Given the description of an element on the screen output the (x, y) to click on. 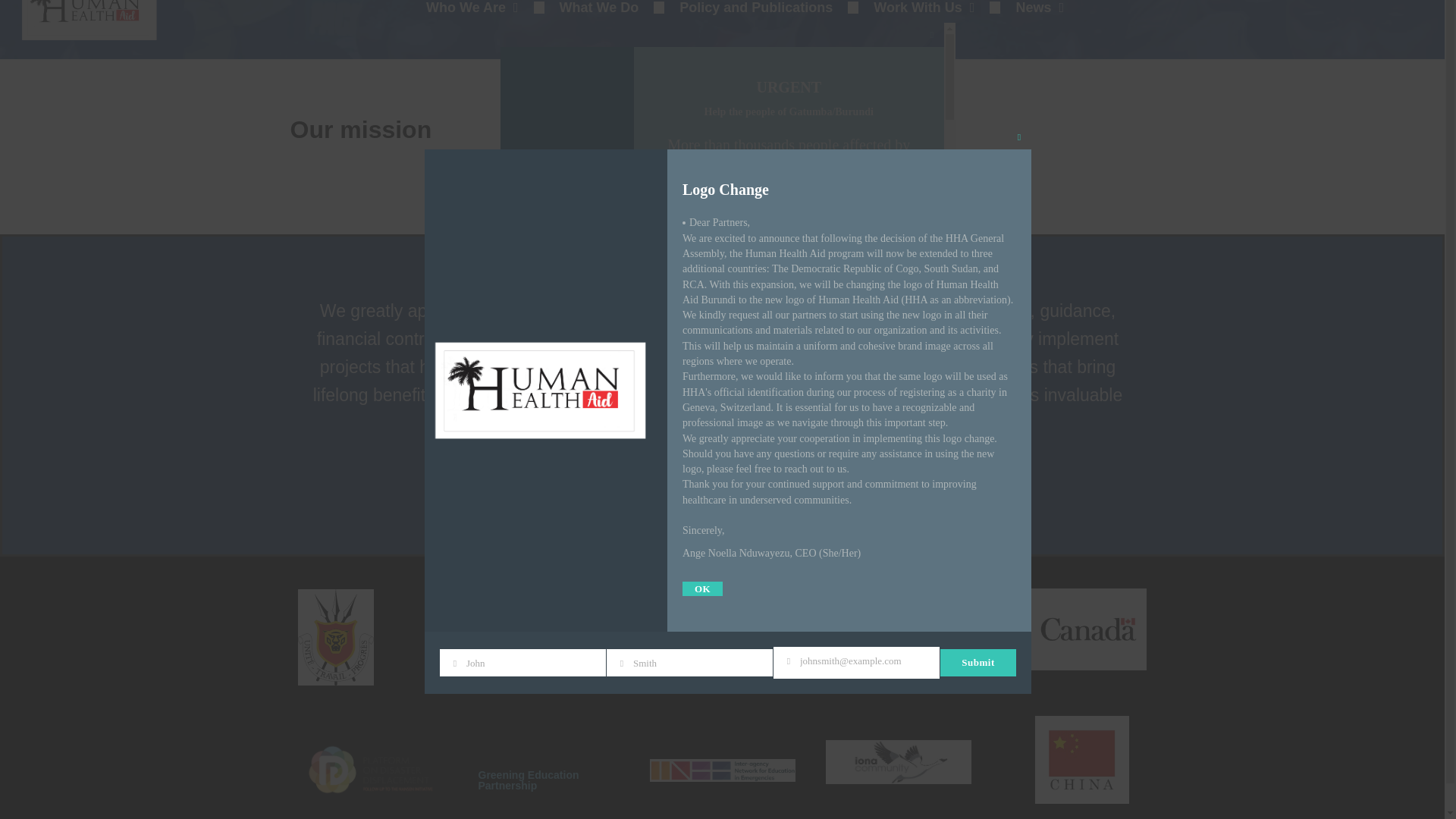
What We Do (598, 12)
News (1039, 12)
Submit (978, 588)
Close this module (1018, 63)
Submit (687, 357)
OK (702, 514)
Policy and Publications (755, 12)
Work With Us (924, 12)
Who We Are (472, 12)
